Given the description of an element on the screen output the (x, y) to click on. 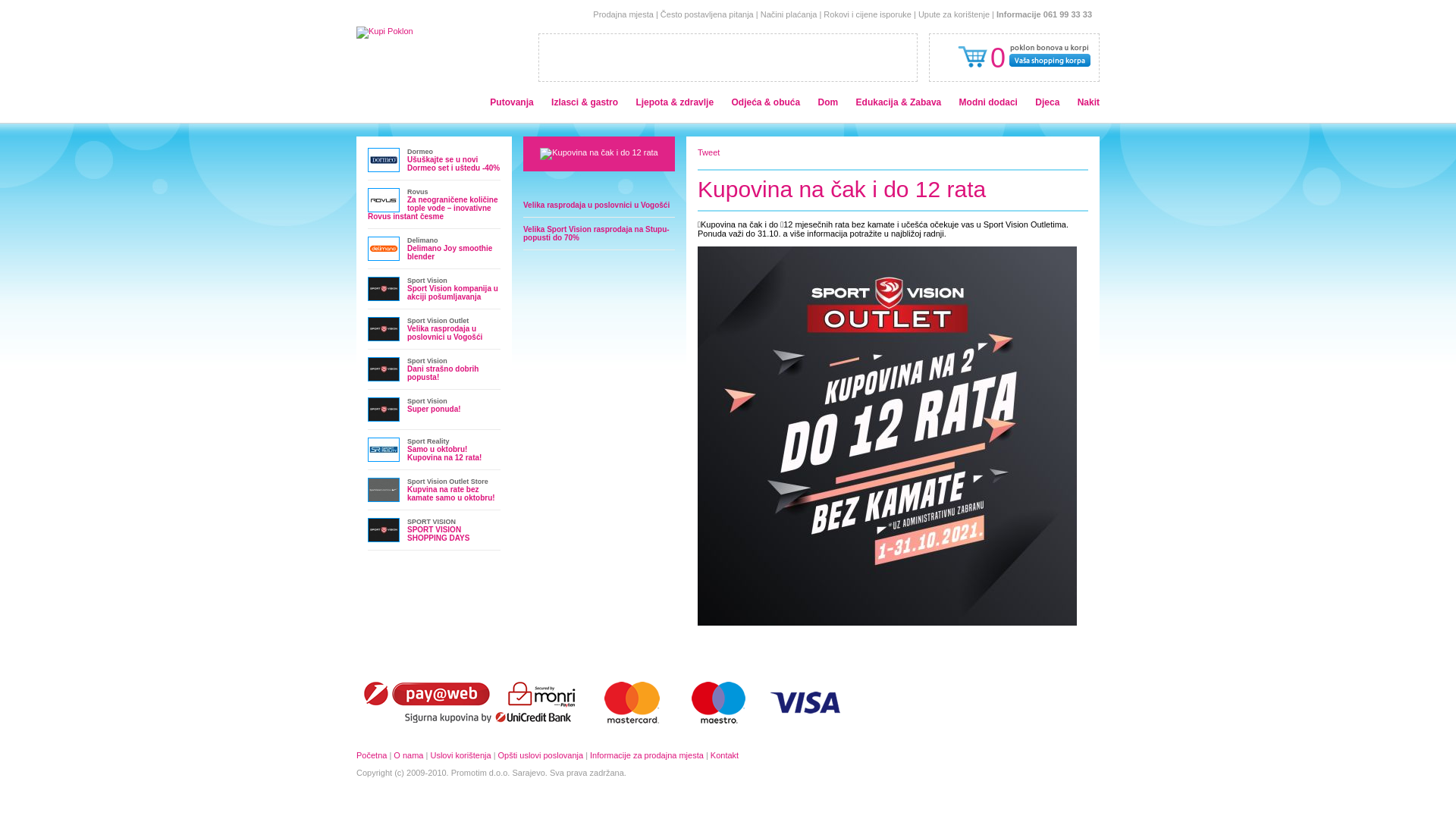
Tweet Element type: text (708, 151)
Djeca Element type: text (1047, 102)
Ljepota & zdravlje Element type: text (674, 102)
Kupvina na rate bez kamate samo u oktobru! Element type: text (451, 493)
Informacije za prodajna mjesta Element type: text (646, 754)
Super ponuda! Element type: text (434, 408)
Samo u oktobru! Kupovina na 12 rata! Element type: text (444, 453)
Modni dodaci Element type: text (988, 102)
Velika Sport Vision rasprodaja na Stupu-popusti do 70% Element type: text (596, 233)
Prodajna mjesta Element type: text (623, 13)
Nakit Element type: text (1088, 102)
Dom Element type: text (828, 102)
Kontakt Element type: text (724, 754)
O nama Element type: text (408, 754)
Izlasci & gastro Element type: text (584, 102)
Delimano Joy smoothie blender Element type: text (449, 252)
SPORT VISION SHOPPING DAYS Element type: text (438, 533)
Promotim d.o.o. Element type: text (480, 772)
Rokovi i cijene isporuke Element type: text (867, 13)
Edukacija & Zabava Element type: text (898, 102)
Putovanja Element type: text (511, 102)
